Given the description of an element on the screen output the (x, y) to click on. 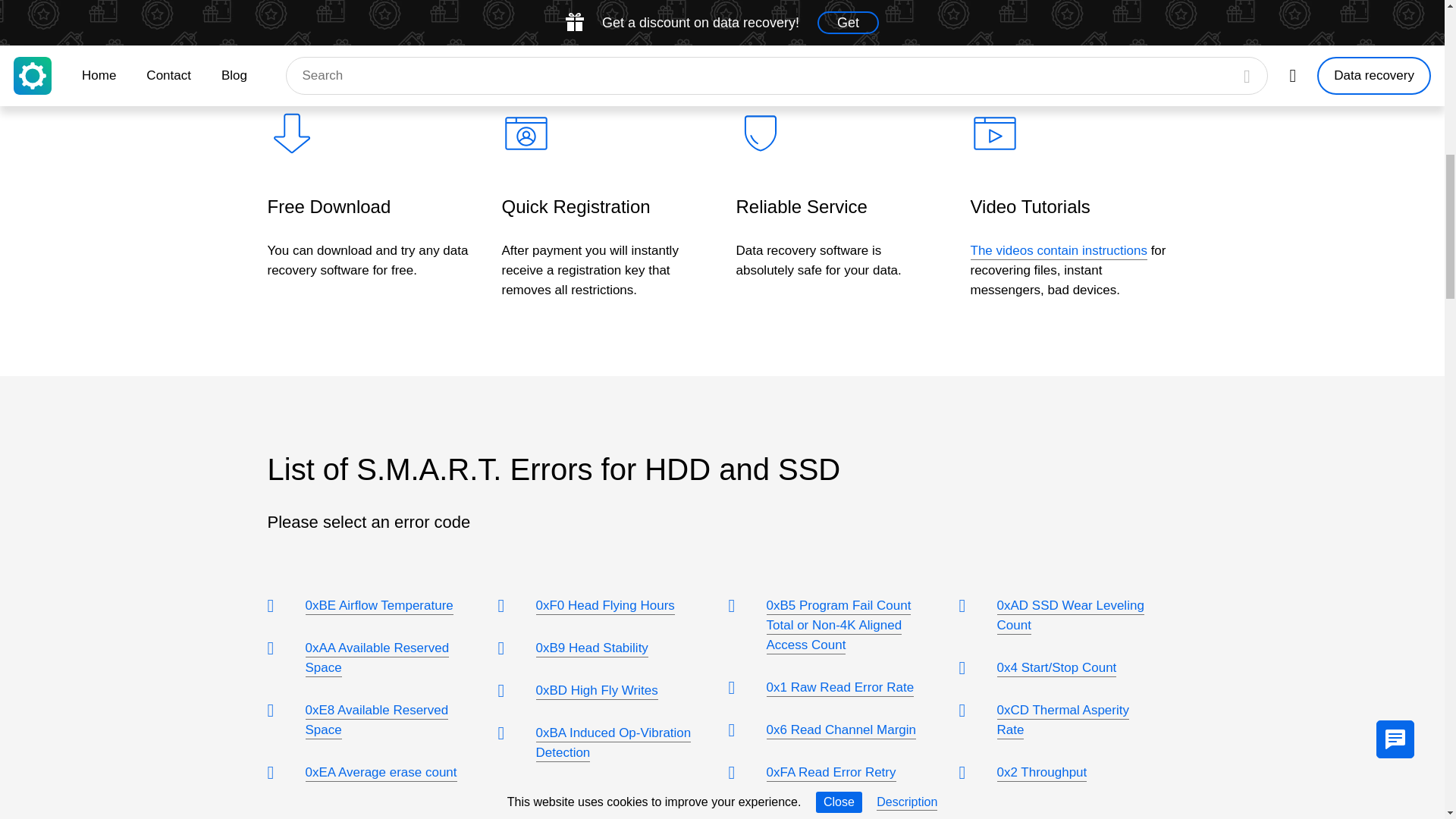
0xBE Airflow Temperature (378, 606)
0xE8 Available Reserved Space (376, 720)
0xB9 Head Stability (591, 648)
0xAA Available Reserved Space (376, 658)
0xF0 Head Flying Hours (604, 606)
0xEA Average erase count AND Maximum Erase Count (380, 791)
The videos contain instructions (1059, 251)
